Given the description of an element on the screen output the (x, y) to click on. 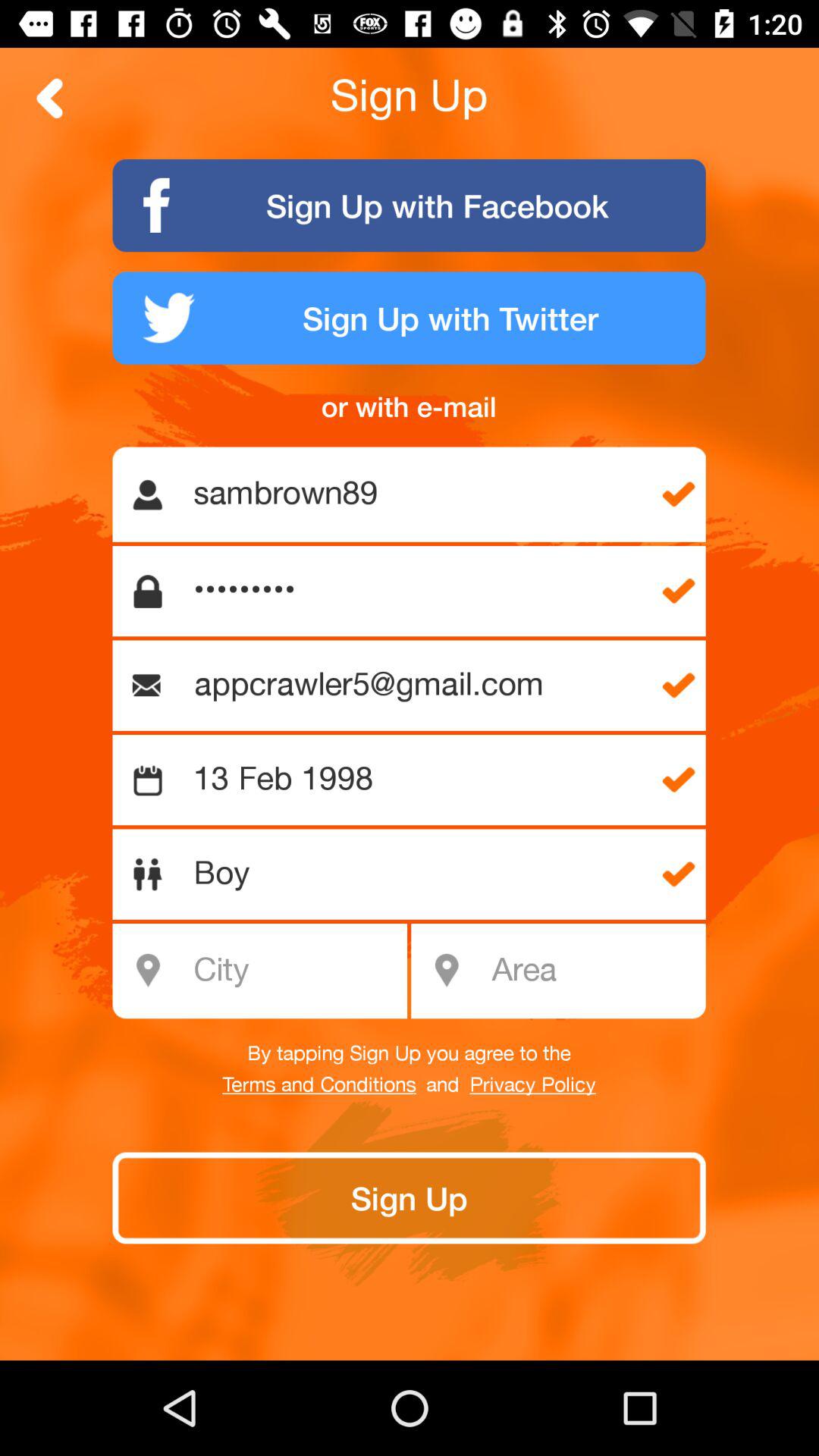
press the sambrown89 icon (417, 494)
